Given the description of an element on the screen output the (x, y) to click on. 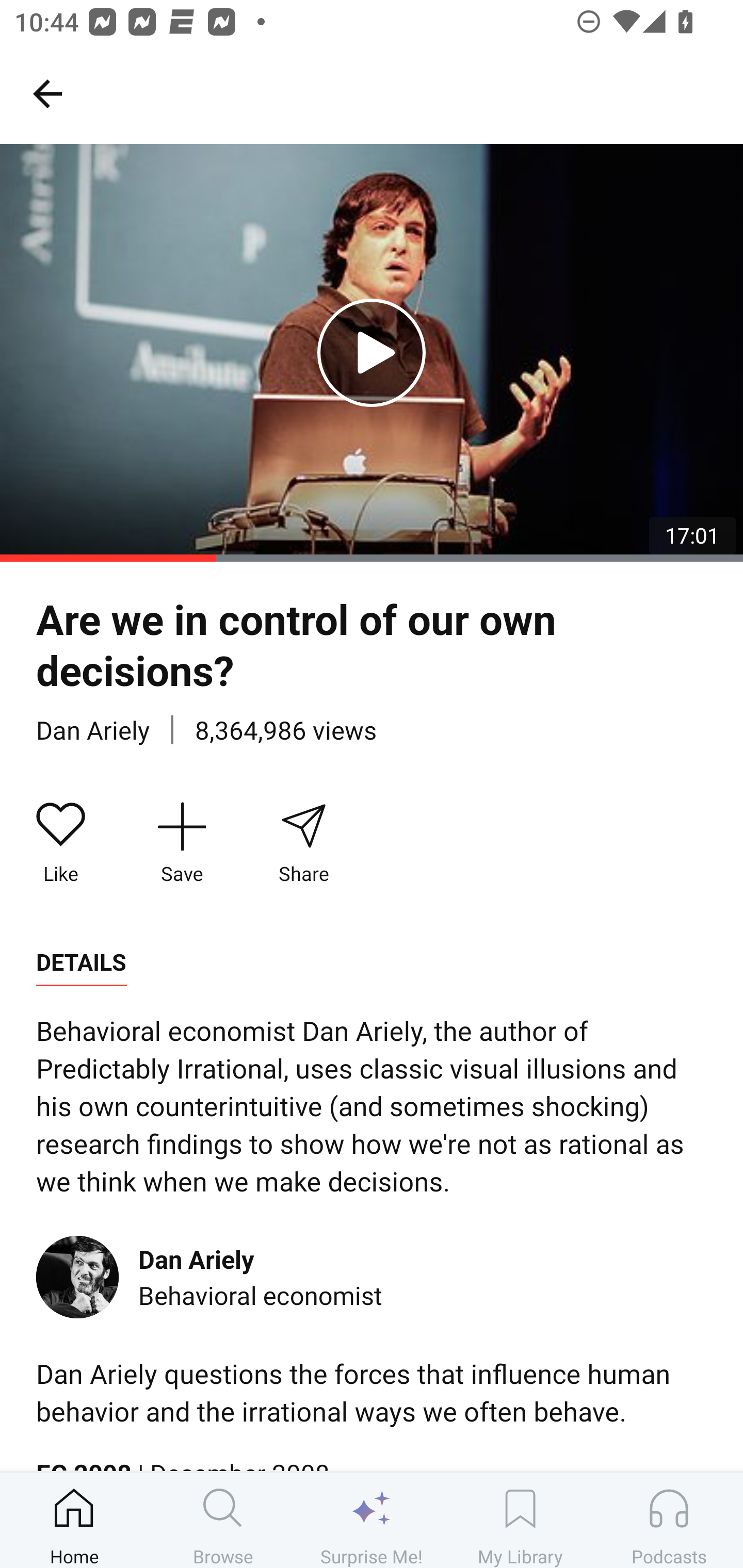
Home, back (47, 92)
Like (60, 843)
Save (181, 843)
Share (302, 843)
DETAILS (80, 962)
Home (74, 1520)
Browse (222, 1520)
Surprise Me! (371, 1520)
My Library (519, 1520)
Podcasts (668, 1520)
